Given the description of an element on the screen output the (x, y) to click on. 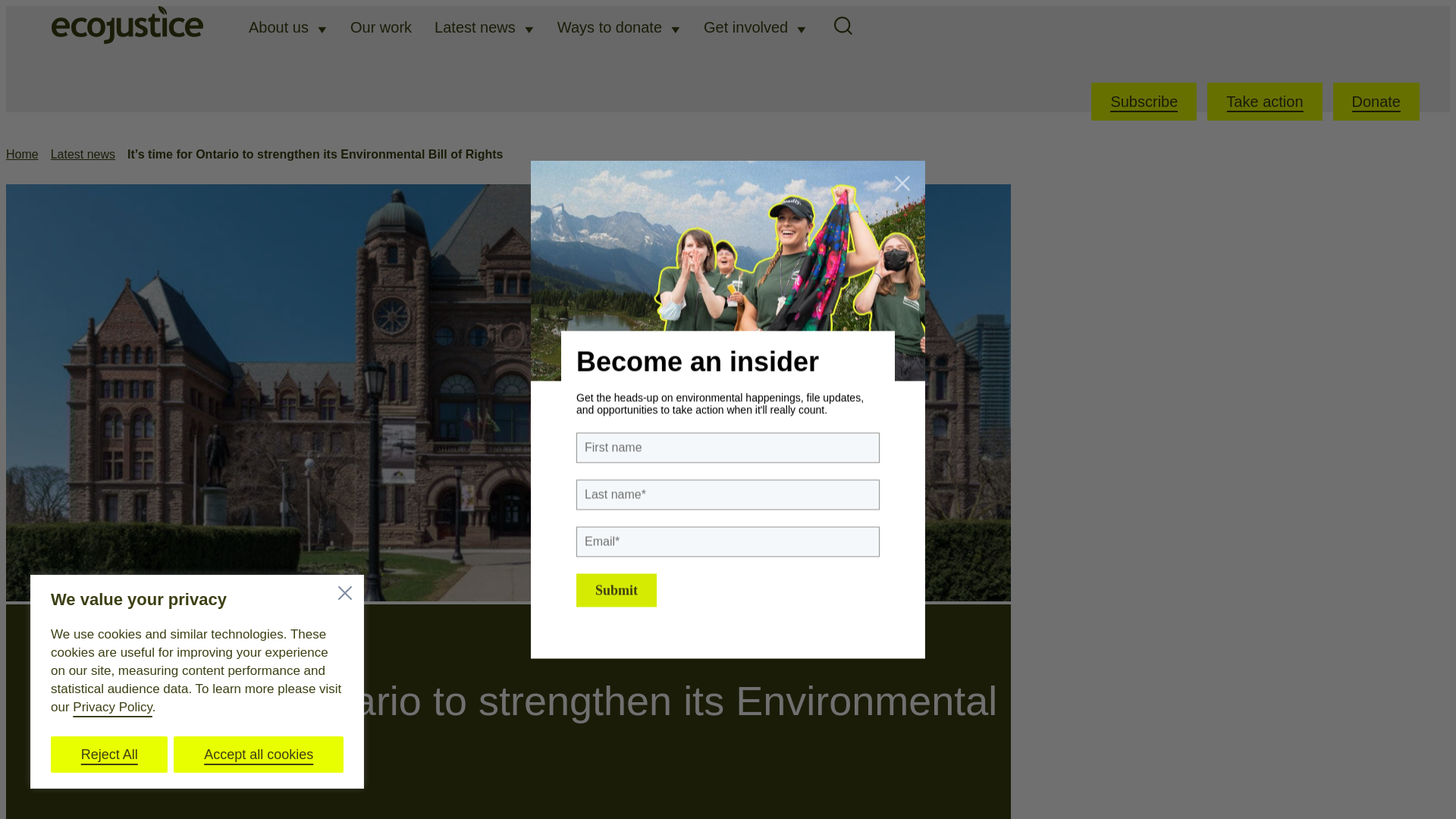
Accept all cookies (258, 754)
Go to Ecojustice. (22, 154)
About us (278, 26)
Go to Latest news. (82, 154)
Toggle sub menu for About us (322, 29)
Privacy Policy (112, 706)
Toggle sub menu for Latest news (529, 29)
Our work (381, 26)
Reject All (108, 754)
Latest news (474, 26)
